Given the description of an element on the screen output the (x, y) to click on. 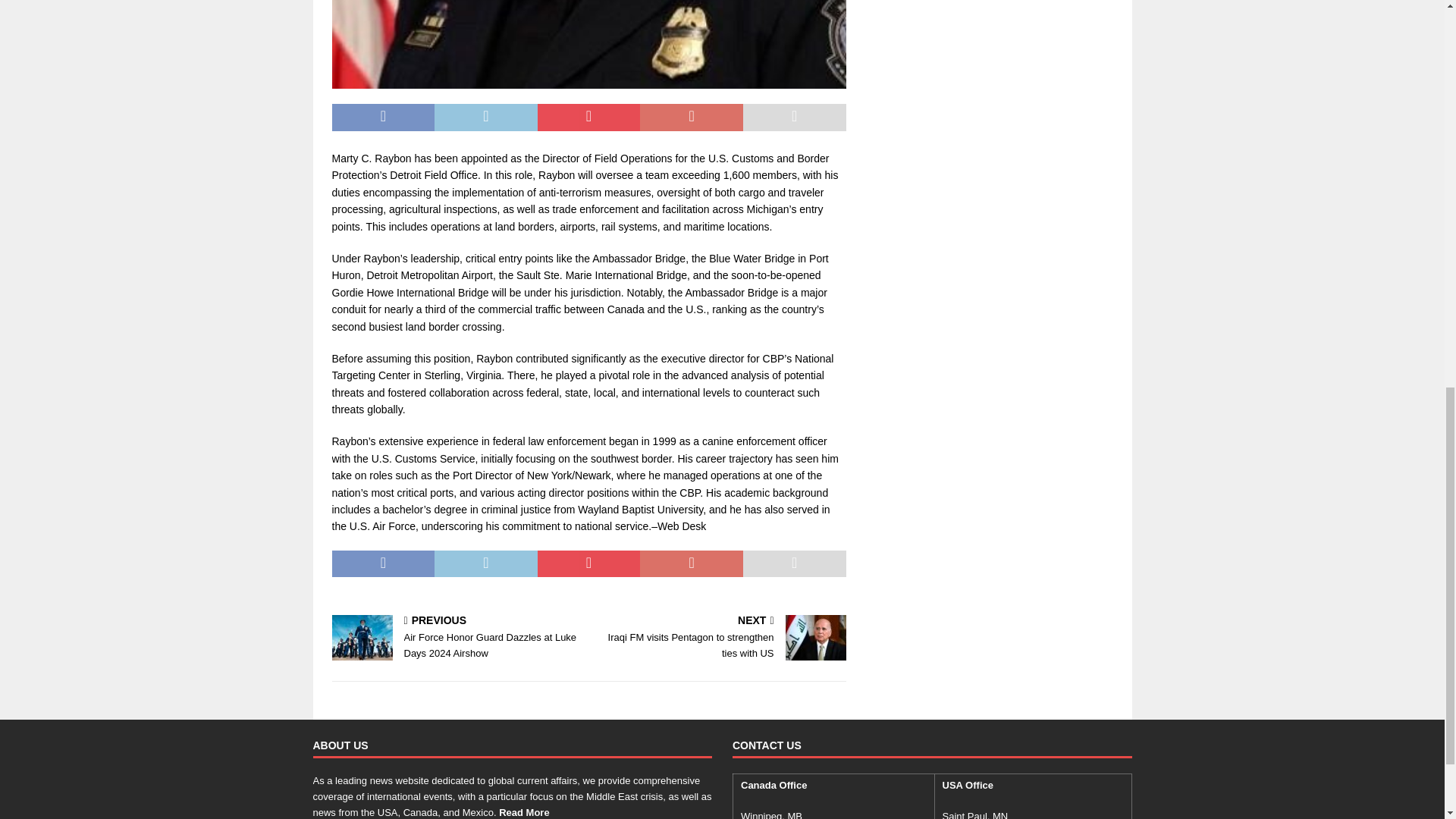
Marty C. Raybon CBP (588, 44)
